Given the description of an element on the screen output the (x, y) to click on. 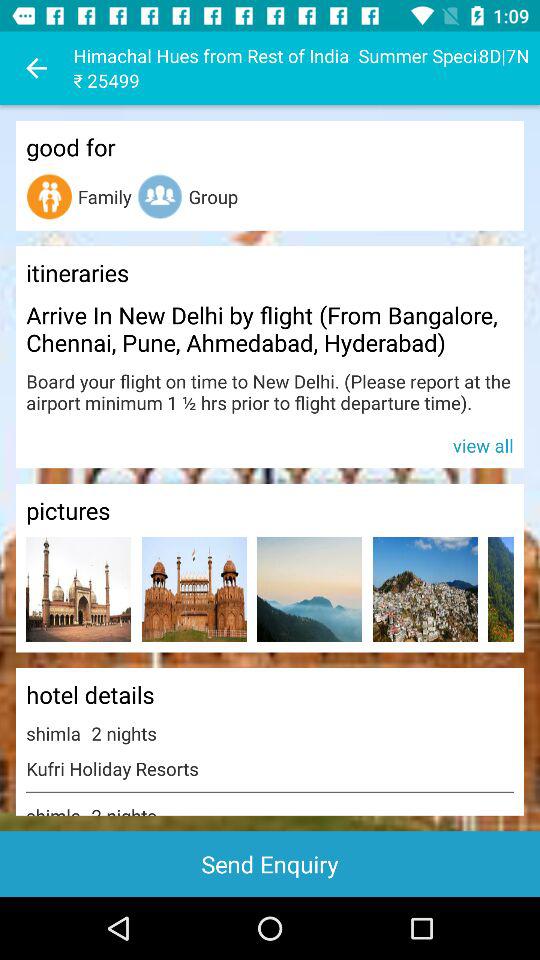
opens a bigger version of the picture (193, 589)
